Given the description of an element on the screen output the (x, y) to click on. 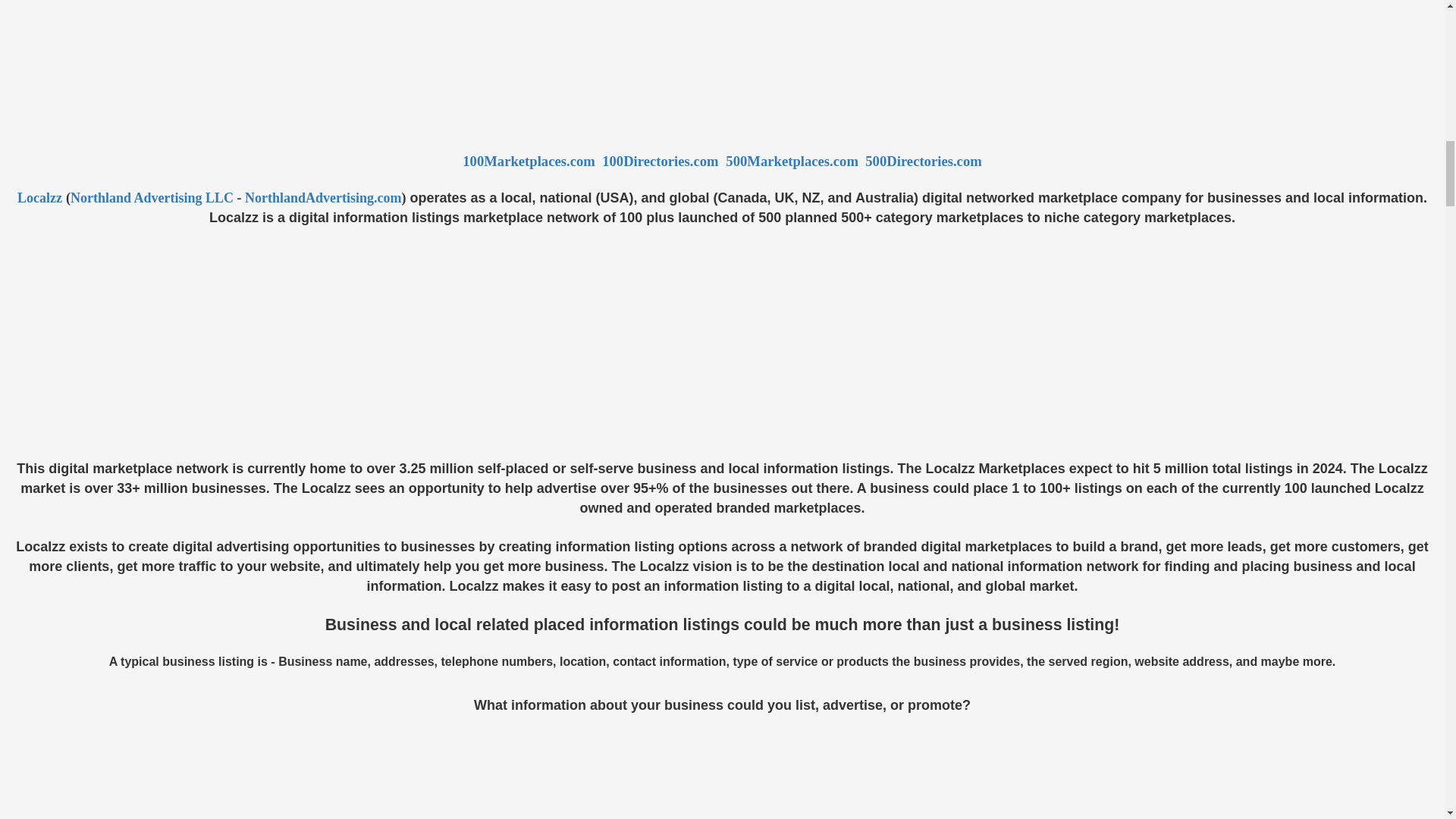
Advertisement (721, 767)
